Given the description of an element on the screen output the (x, y) to click on. 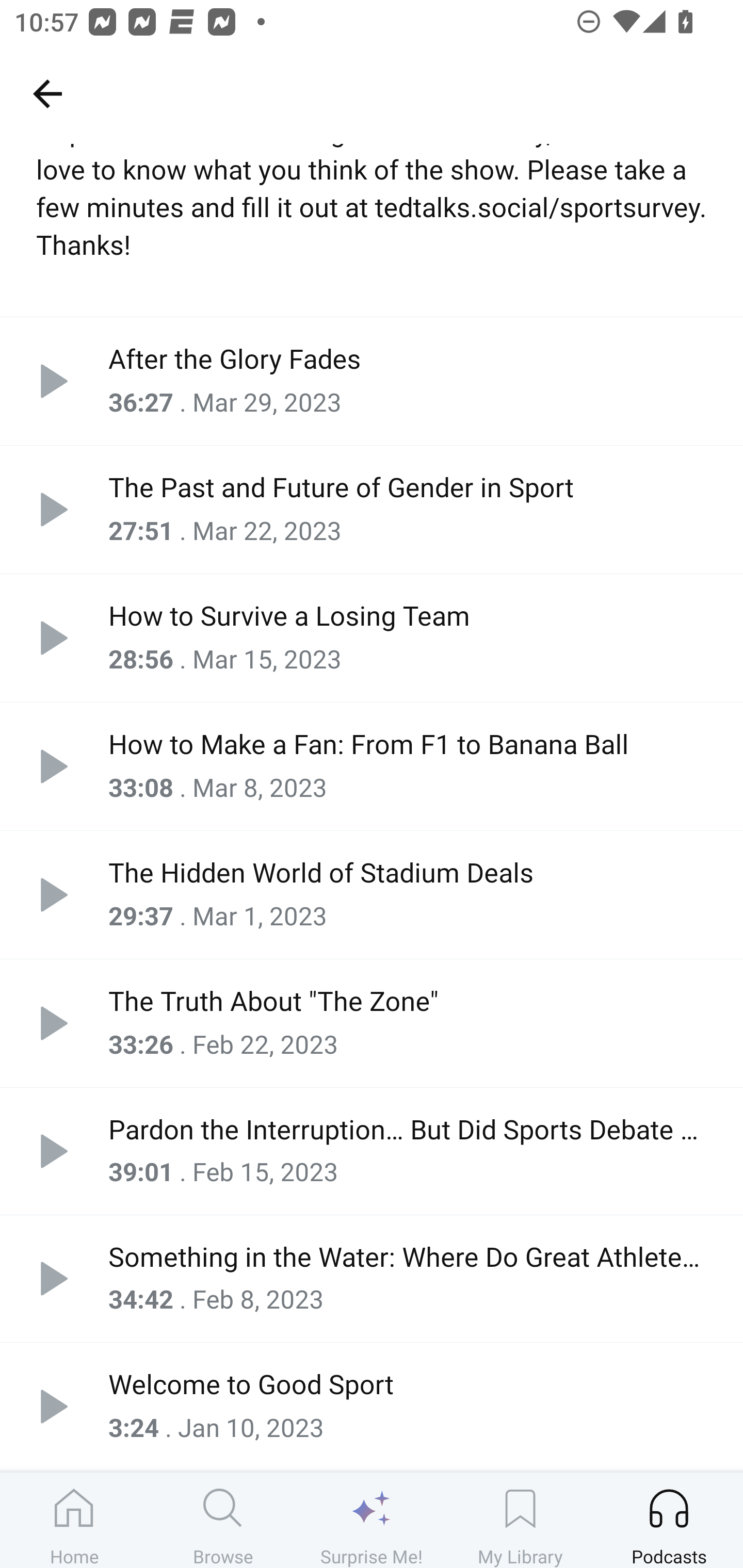
TED Podcasts, back (47, 92)
After the Glory Fades 36:27 . Mar 29, 2023 (371, 380)
How to Survive a Losing Team 28:56 . Mar 15, 2023 (371, 637)
The Truth About "The Zone" 33:26 . Feb 22, 2023 (371, 1022)
Welcome to Good Sport 3:24 . Jan 10, 2023 (371, 1406)
Home (74, 1520)
Browse (222, 1520)
Surprise Me! (371, 1520)
My Library (519, 1520)
Podcasts (668, 1520)
